Given the description of an element on the screen output the (x, y) to click on. 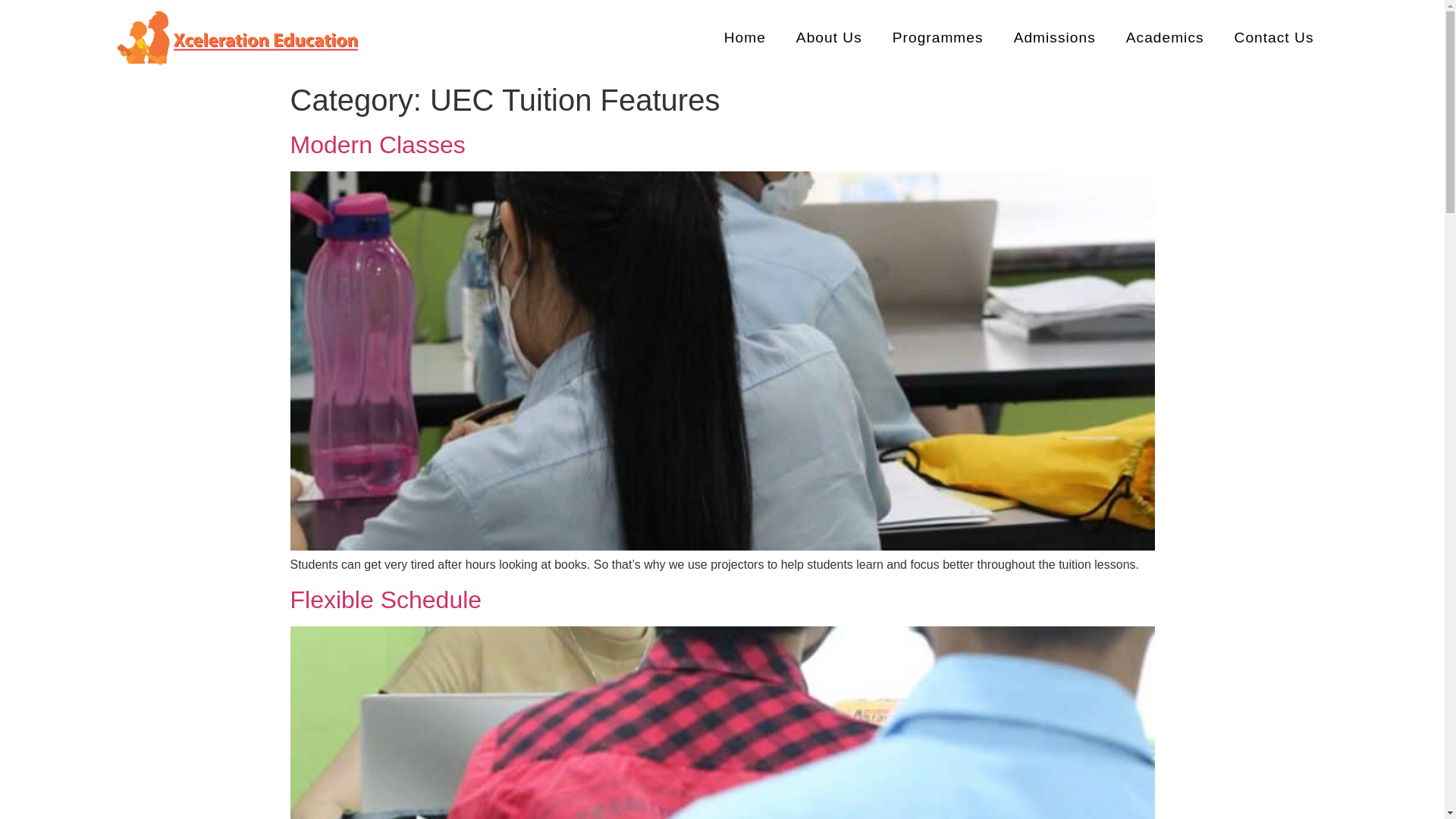
Programmes (937, 37)
Home (744, 37)
Admissions (1054, 37)
Contact Us (1274, 37)
Academics (1165, 37)
About Us (828, 37)
